Given the description of an element on the screen output the (x, y) to click on. 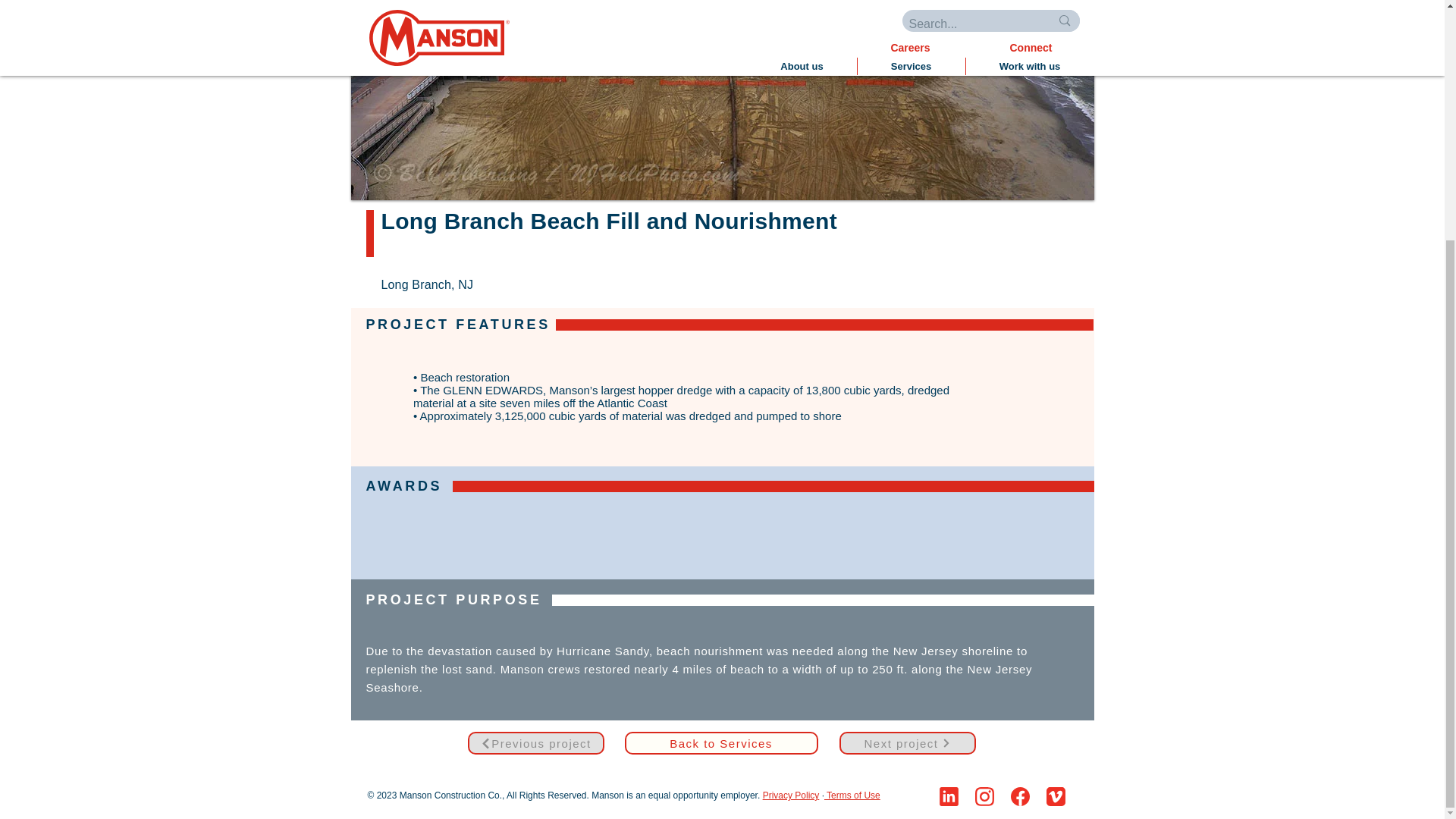
Privacy Policy (790, 795)
Previous project (535, 743)
Next project (906, 743)
Terms of Use (852, 795)
Back to Services (721, 743)
